Given the description of an element on the screen output the (x, y) to click on. 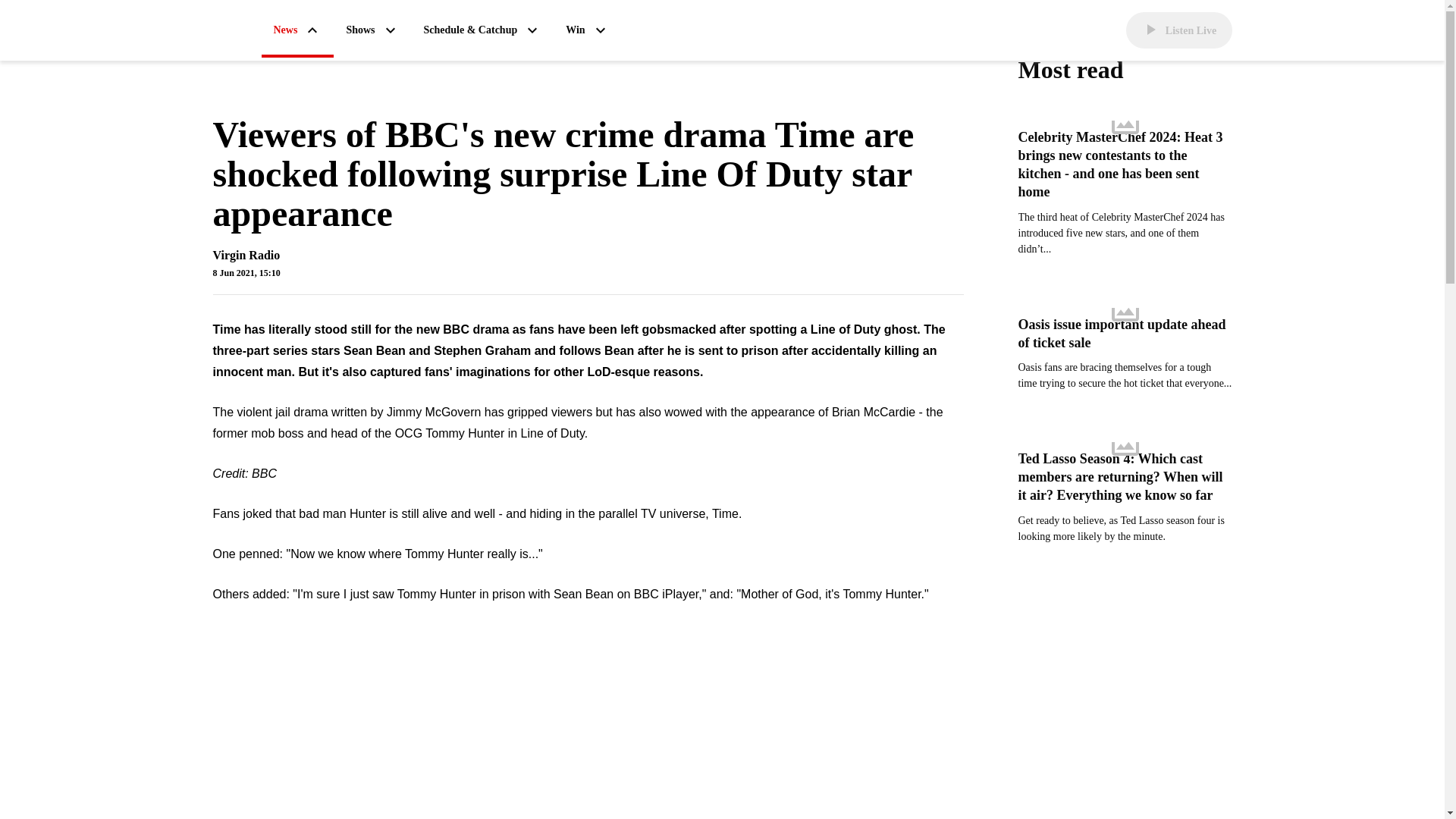
Shows (371, 29)
News (296, 31)
Oasis issue important update ahead of ticket sale (1124, 334)
Listen Live (1178, 30)
Win (587, 29)
Listen Live (1178, 30)
Shows (371, 29)
Win (587, 29)
